Given the description of an element on the screen output the (x, y) to click on. 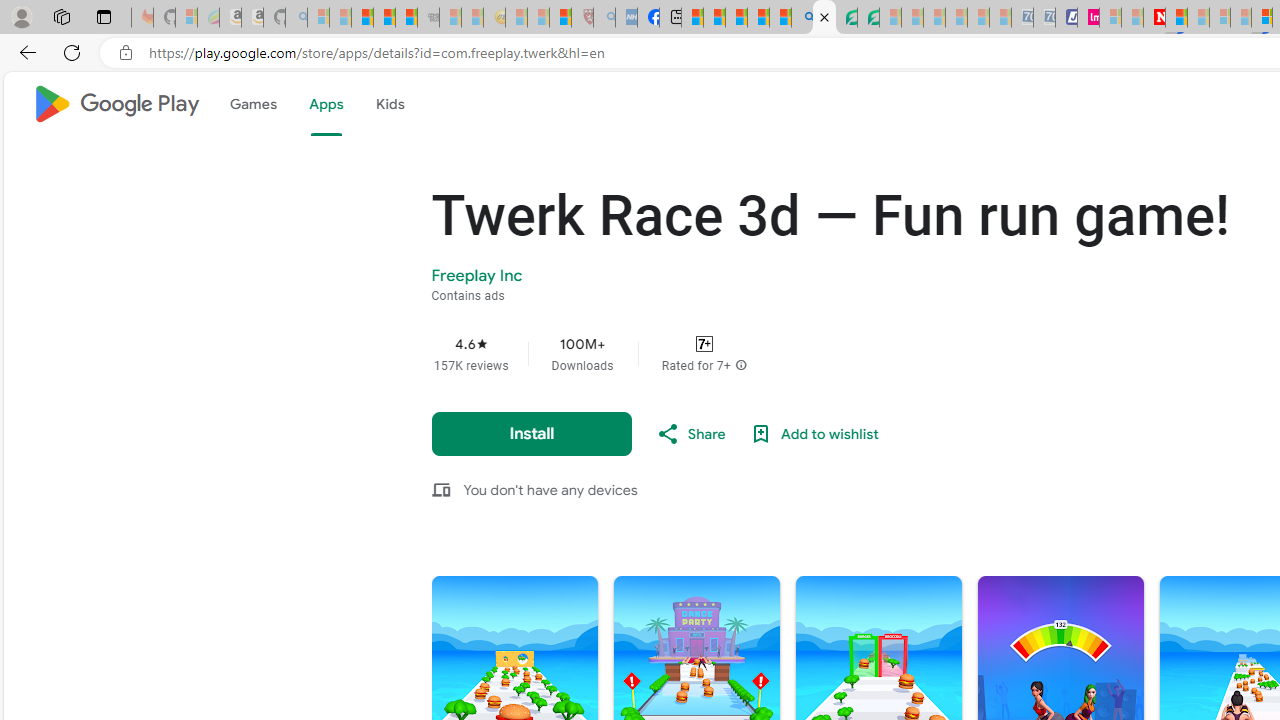
You don't have any devices (550, 489)
Install (531, 433)
Pets - MSN (758, 17)
Microsoft Start (736, 17)
Microsoft account | Privacy - Sleeping (1110, 17)
Jobs - lastminute.com Investor Portal (1088, 17)
Add to wishlist (814, 433)
Combat Siege (428, 17)
Games (252, 104)
The Weather Channel - MSN (362, 17)
MSNBC - MSN (692, 17)
Workspaces (61, 16)
